Given the description of an element on the screen output the (x, y) to click on. 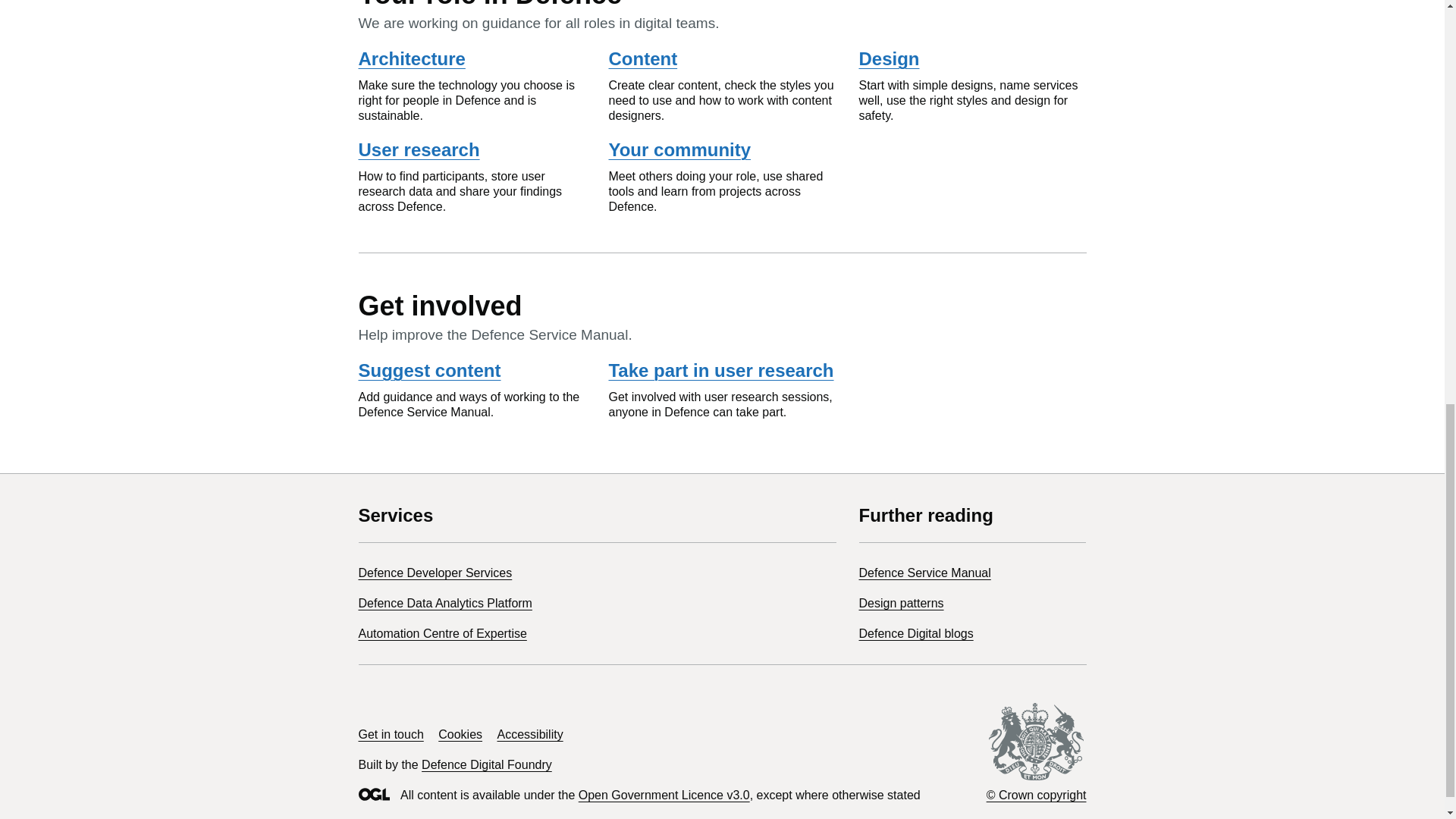
Get in touch (390, 734)
Suggest content (429, 370)
Design patterns (901, 603)
Take part in user research (720, 370)
Architecture (411, 58)
Open Government Licence v3.0 (663, 794)
Automation Centre of Expertise (441, 633)
Defence Developer Services (435, 572)
User research (418, 149)
Defence Data Analytics Platform (444, 603)
Defence Service Manual (924, 572)
Content (642, 58)
Defence Digital blogs (915, 633)
Accessibility (530, 734)
Design (888, 58)
